Given the description of an element on the screen output the (x, y) to click on. 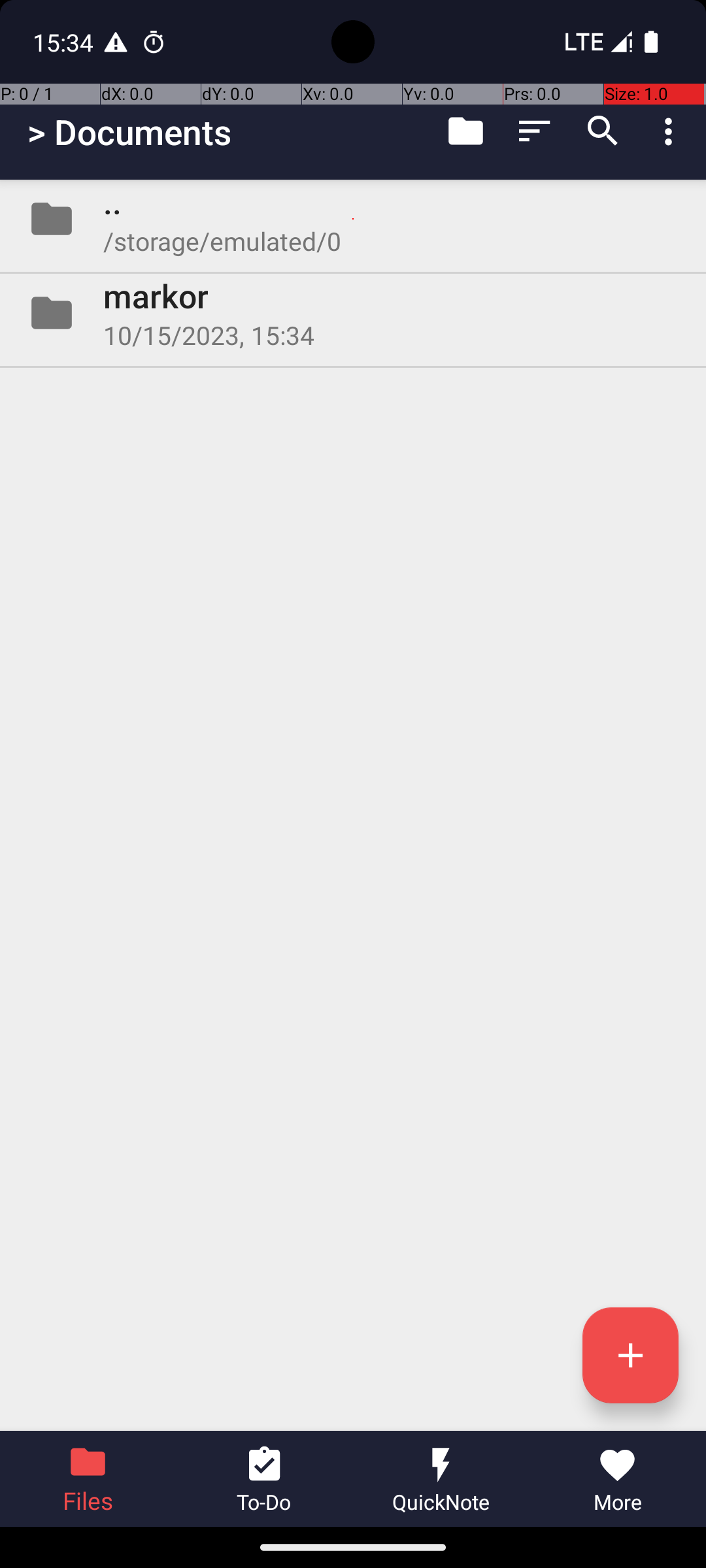
> Documents Element type: android.widget.TextView (129, 131)
Folder .. /storage/emulated/0/Documents Element type: android.widget.LinearLayout (353, 218)
Folder markor 10/15/2023, 15:34 Element type: android.widget.LinearLayout (353, 312)
